Given the description of an element on the screen output the (x, y) to click on. 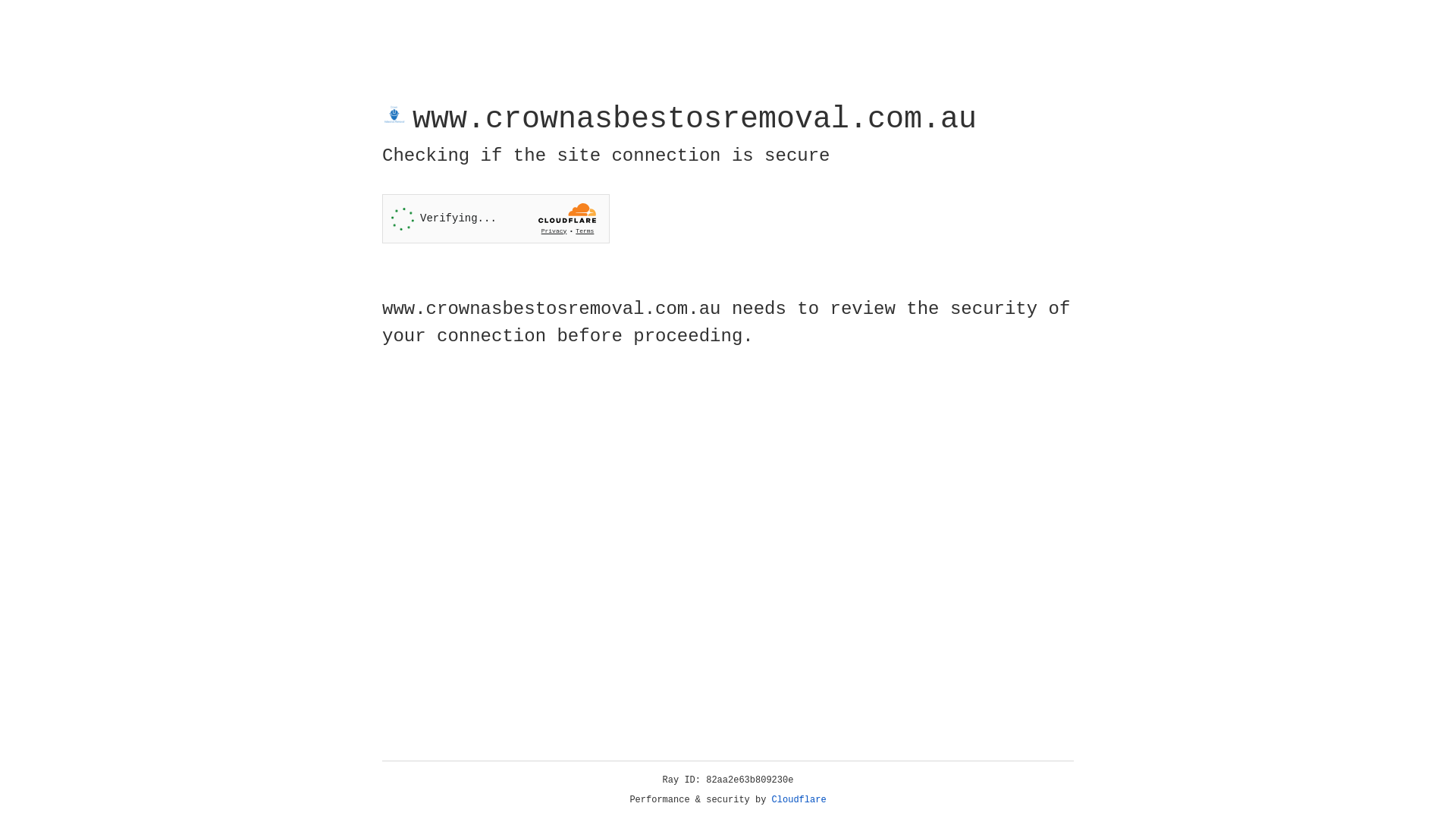
Cloudflare Element type: text (798, 799)
Widget containing a Cloudflare security challenge Element type: hover (495, 218)
